Given the description of an element on the screen output the (x, y) to click on. 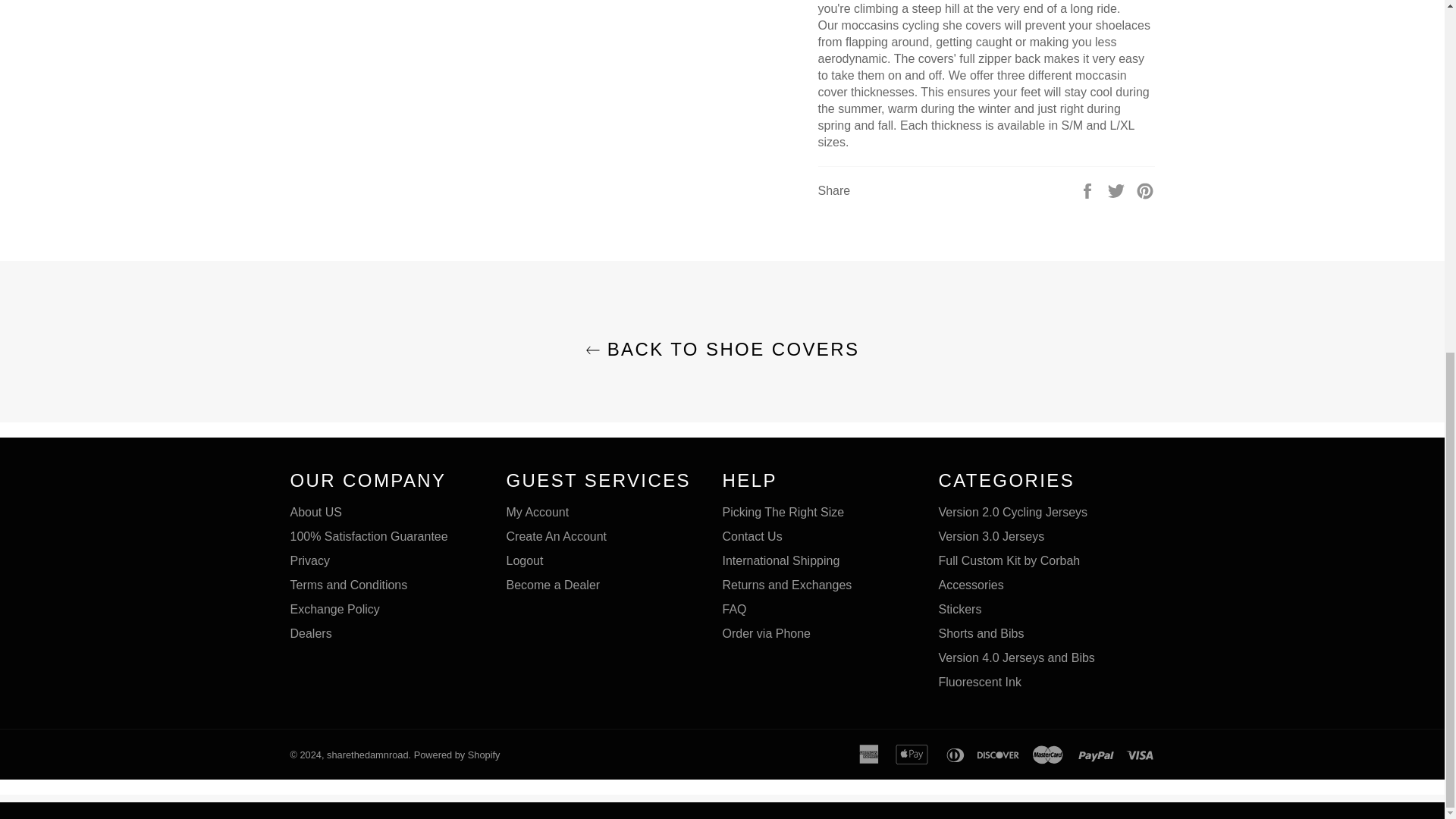
Tweet on Twitter (1117, 189)
Share on Facebook (1088, 189)
Pin on Pinterest (1144, 189)
